Given the description of an element on the screen output the (x, y) to click on. 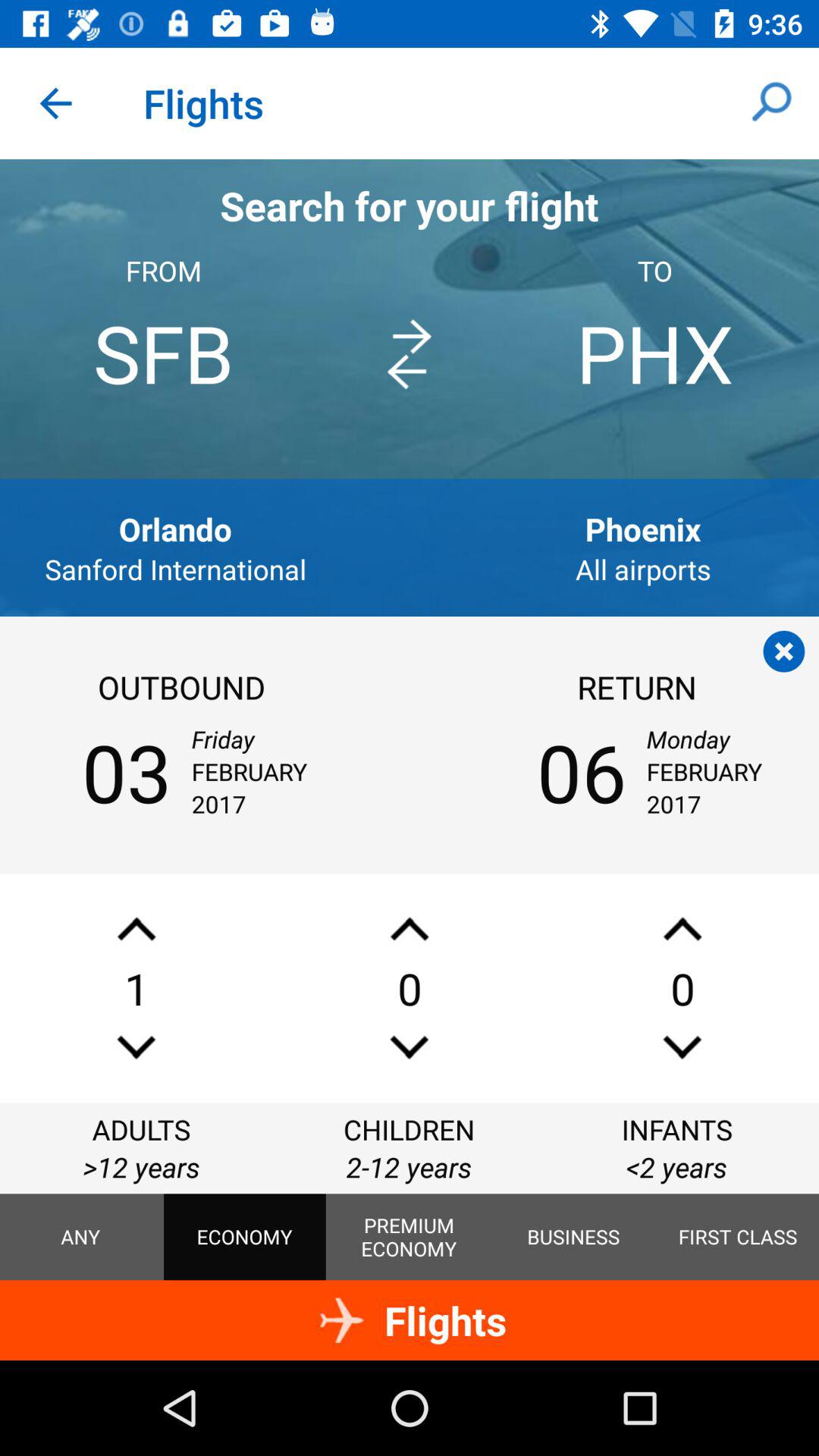
add an adult (136, 928)
